Given the description of an element on the screen output the (x, y) to click on. 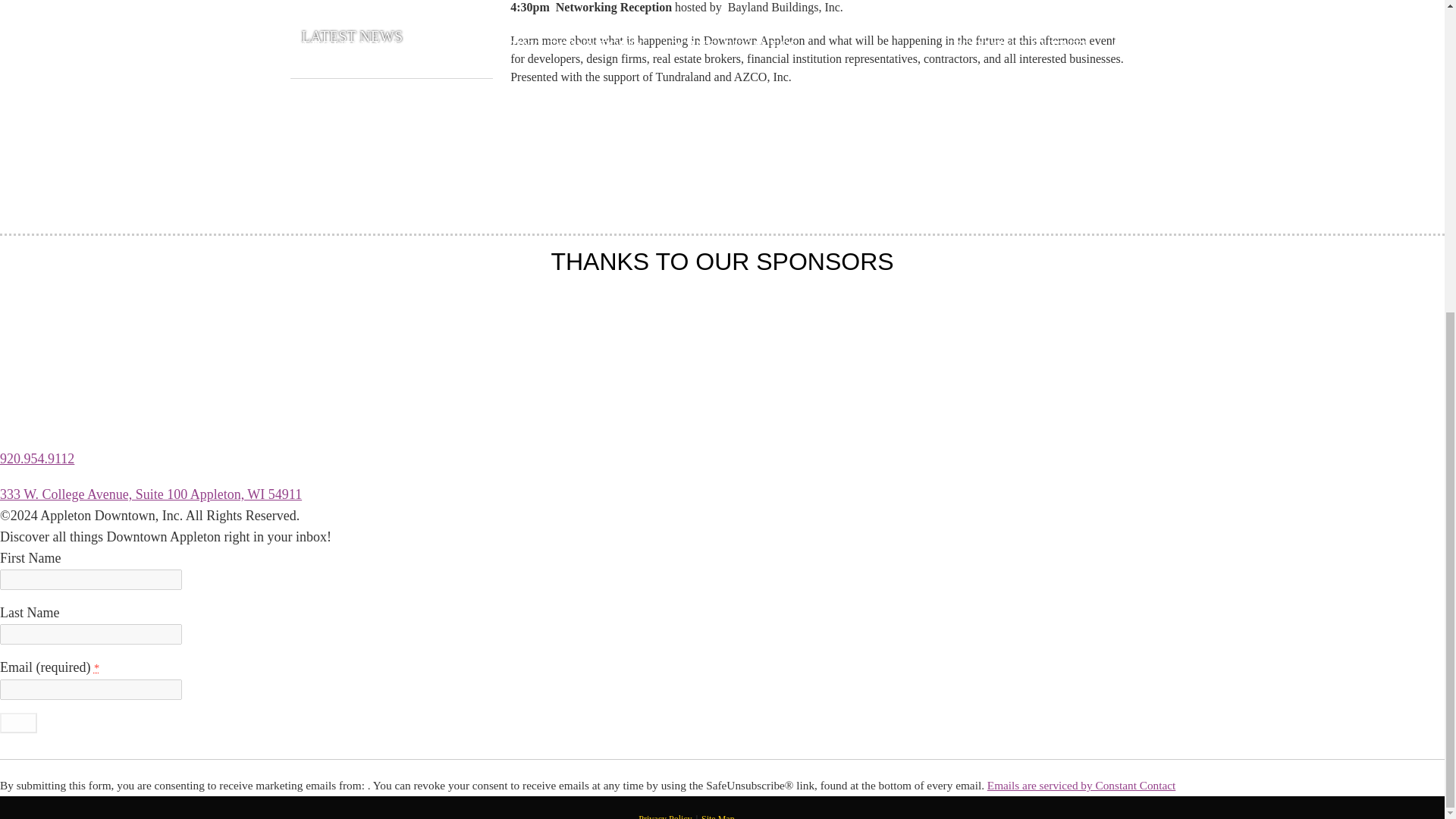
GO! (18, 722)
